Given the description of an element on the screen output the (x, y) to click on. 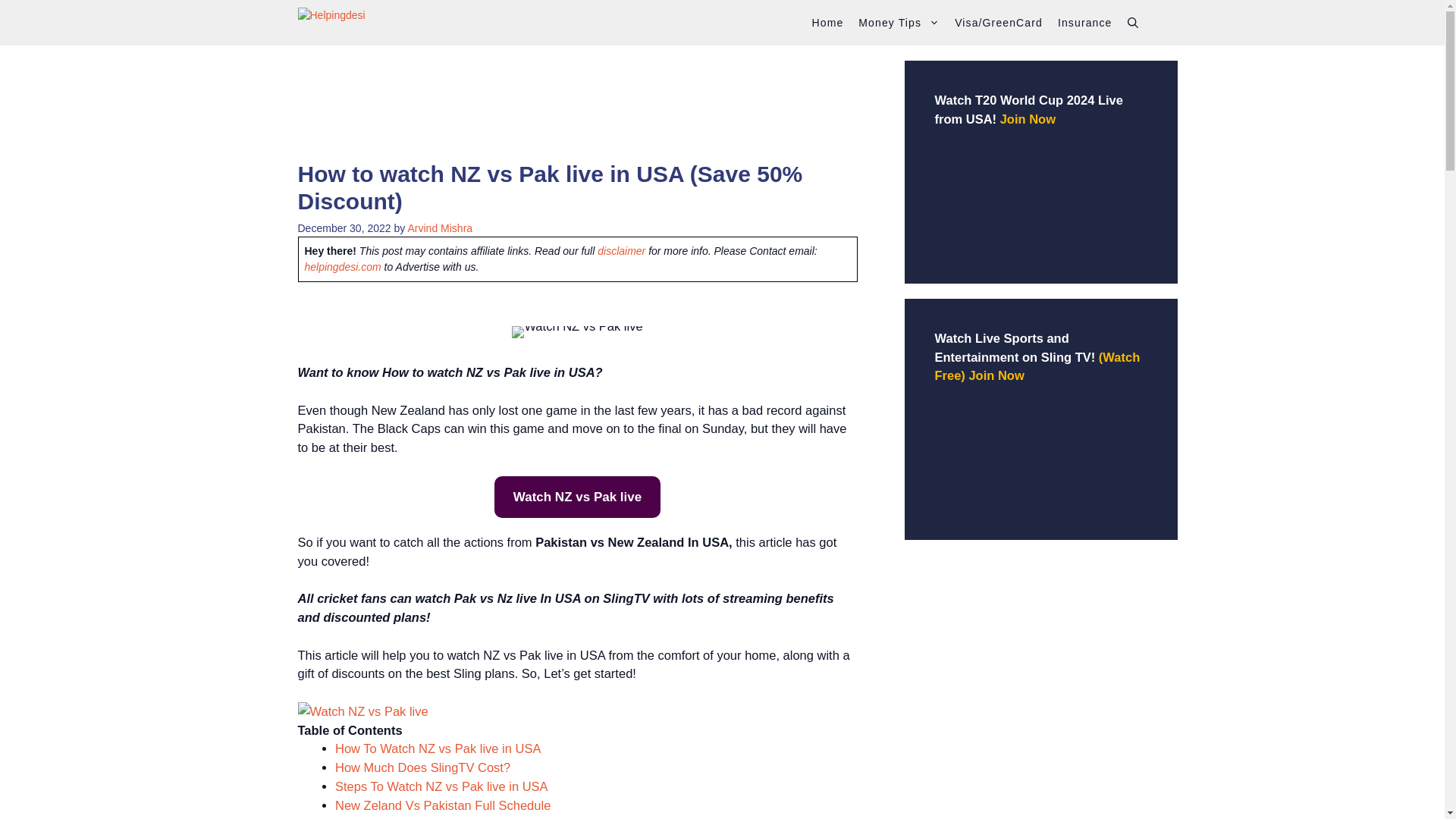
How Much Does SlingTV Cost? (422, 766)
Insurance (1084, 22)
Helpingdesi (372, 22)
New Zeland Vs Pakistan Full Schedule (442, 805)
Money Tips (898, 22)
How To Watch NZ vs Pak live in USA (437, 748)
Home (826, 22)
disclaimer (620, 250)
Watch NZ vs Pak live (578, 496)
Steps To Watch NZ vs Pak live in USA (441, 786)
Arvind Mishra (439, 227)
View all posts by Arvind Mishra (439, 227)
helpingdesi.com (342, 266)
